Given the description of an element on the screen output the (x, y) to click on. 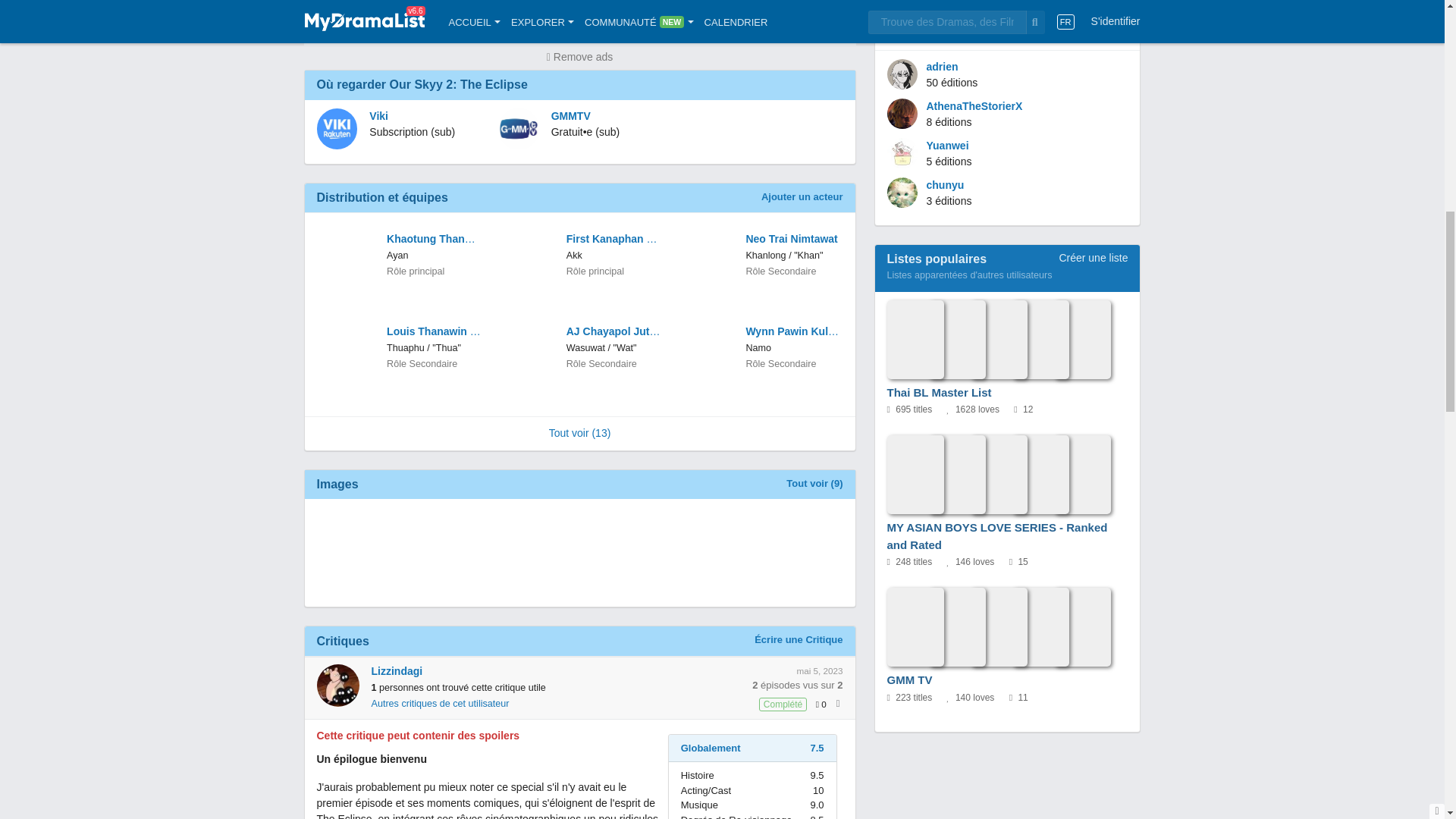
Khaotung Thanawat Rattanakitpaisan (433, 238)
AJ Chayapol Jutamat (613, 331)
Akk (574, 255)
Louis Thanawin Teeraphosukarn (433, 331)
First Kanaphan  Puitrakul (613, 238)
Neo Trai Nimtawat (792, 238)
Ayan (397, 255)
